Given the description of an element on the screen output the (x, y) to click on. 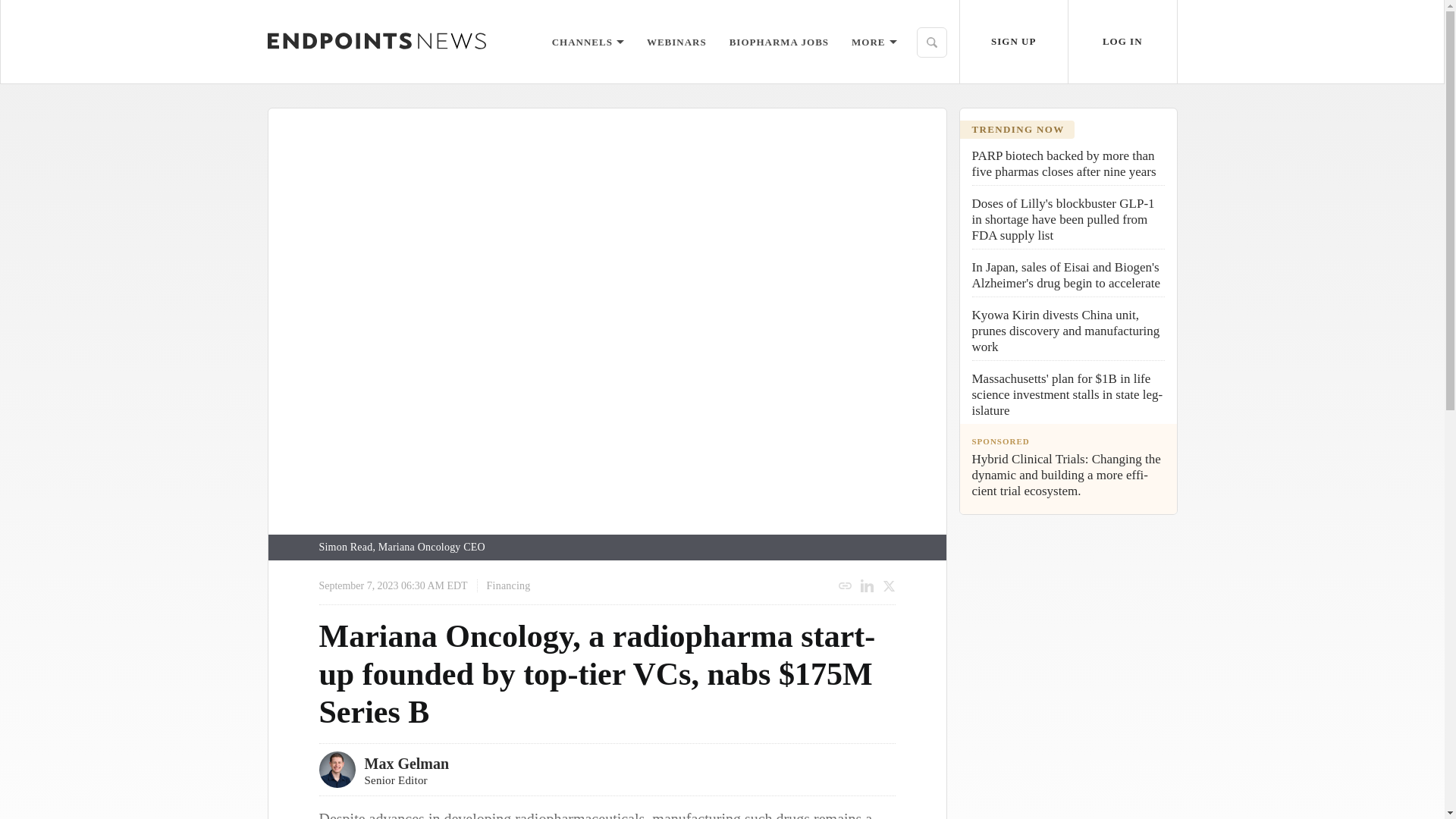
BIOPHARMA JOBS (778, 41)
WEBINARS (676, 41)
